Given the description of an element on the screen output the (x, y) to click on. 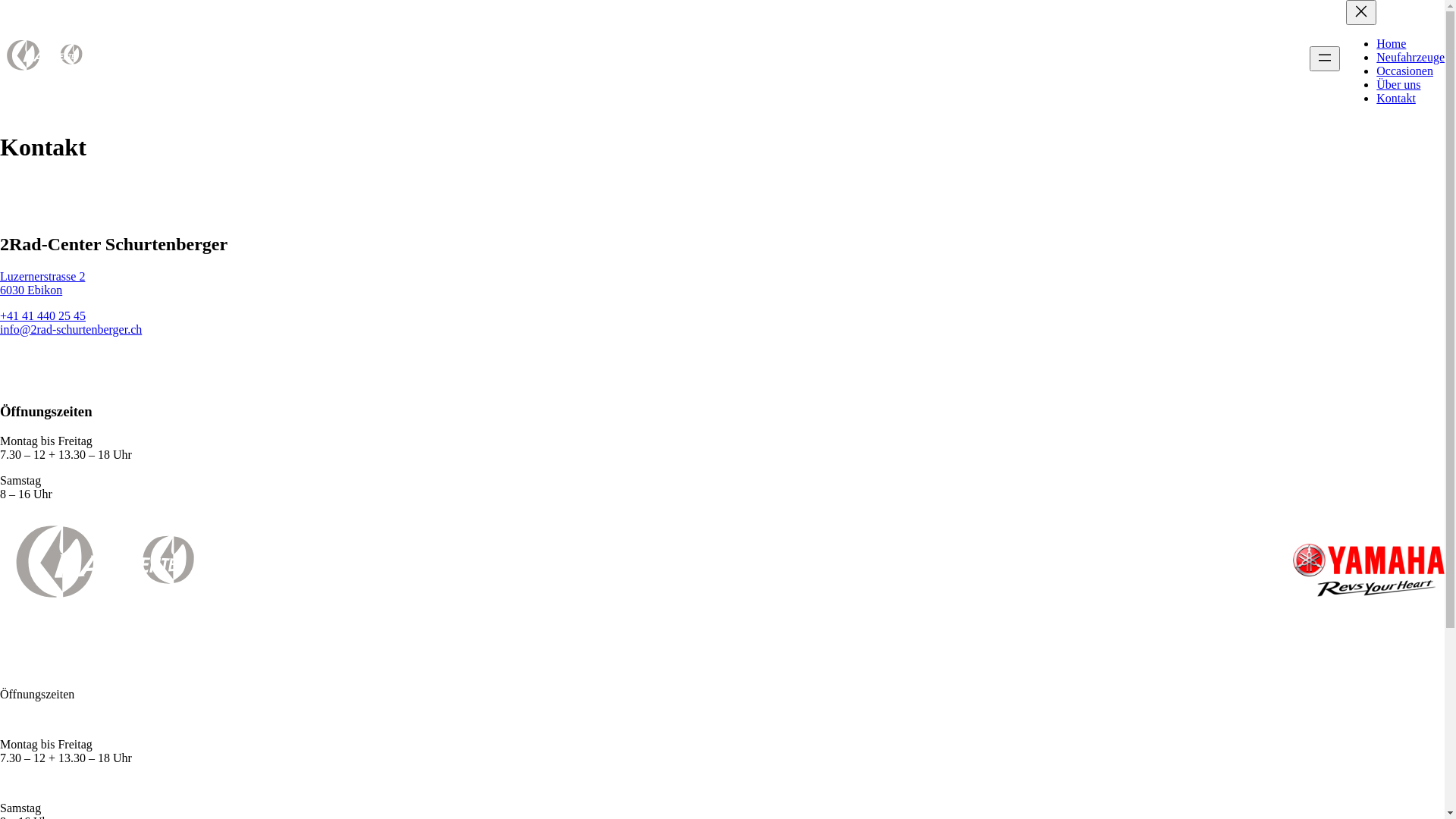
Kontakt Element type: text (1395, 97)
Home Element type: text (1390, 43)
info@2rad-schurtenberger.ch Element type: text (70, 329)
Luzernerstrasse 2
6030 Ebikon Element type: text (42, 282)
Occasionen Element type: text (1404, 70)
+41 41 440 25 45 Element type: text (42, 315)
Neufahrzeuge Element type: text (1410, 56)
